Given the description of an element on the screen output the (x, y) to click on. 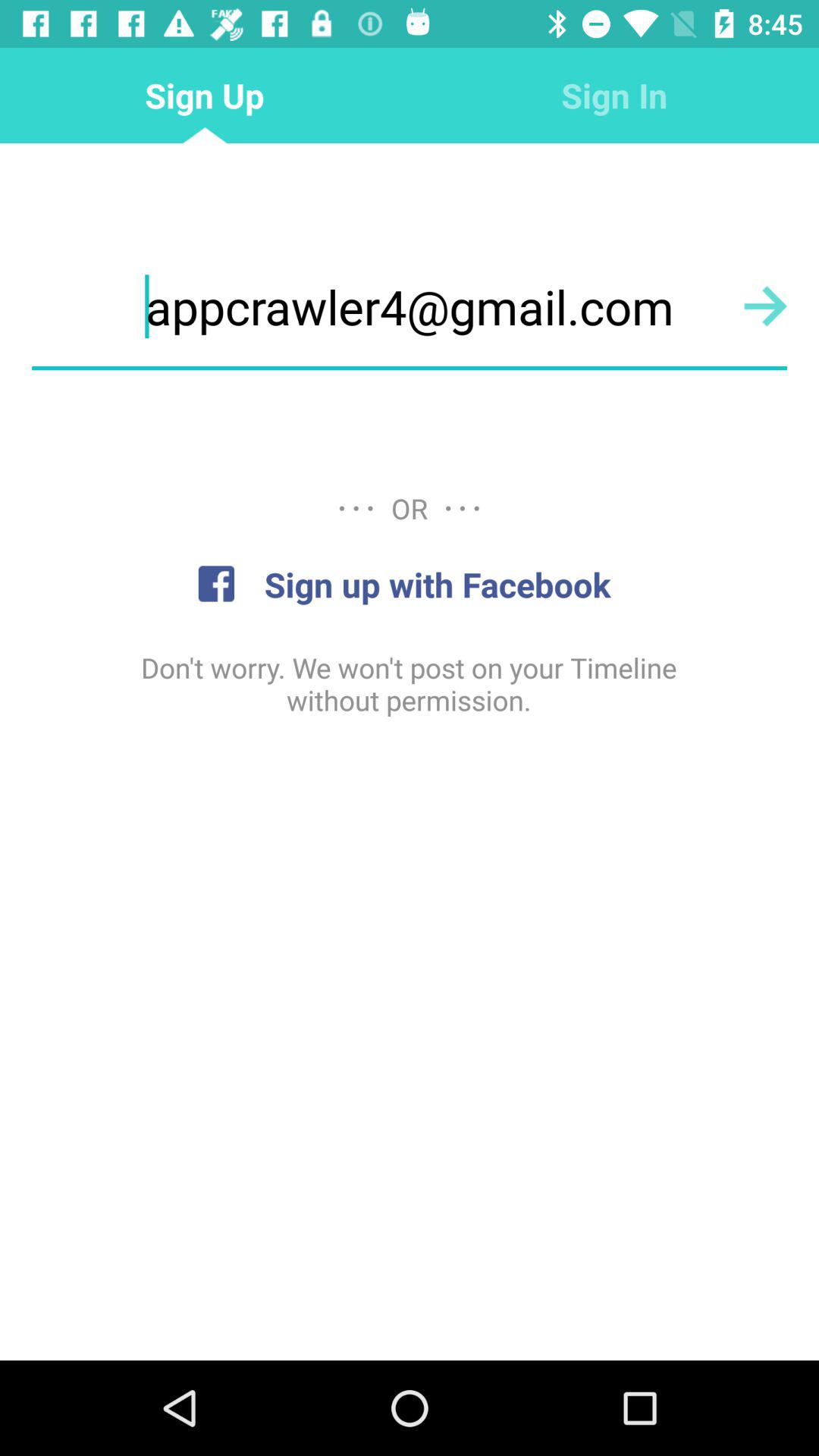
press the item next to the sign up item (614, 95)
